Given the description of an element on the screen output the (x, y) to click on. 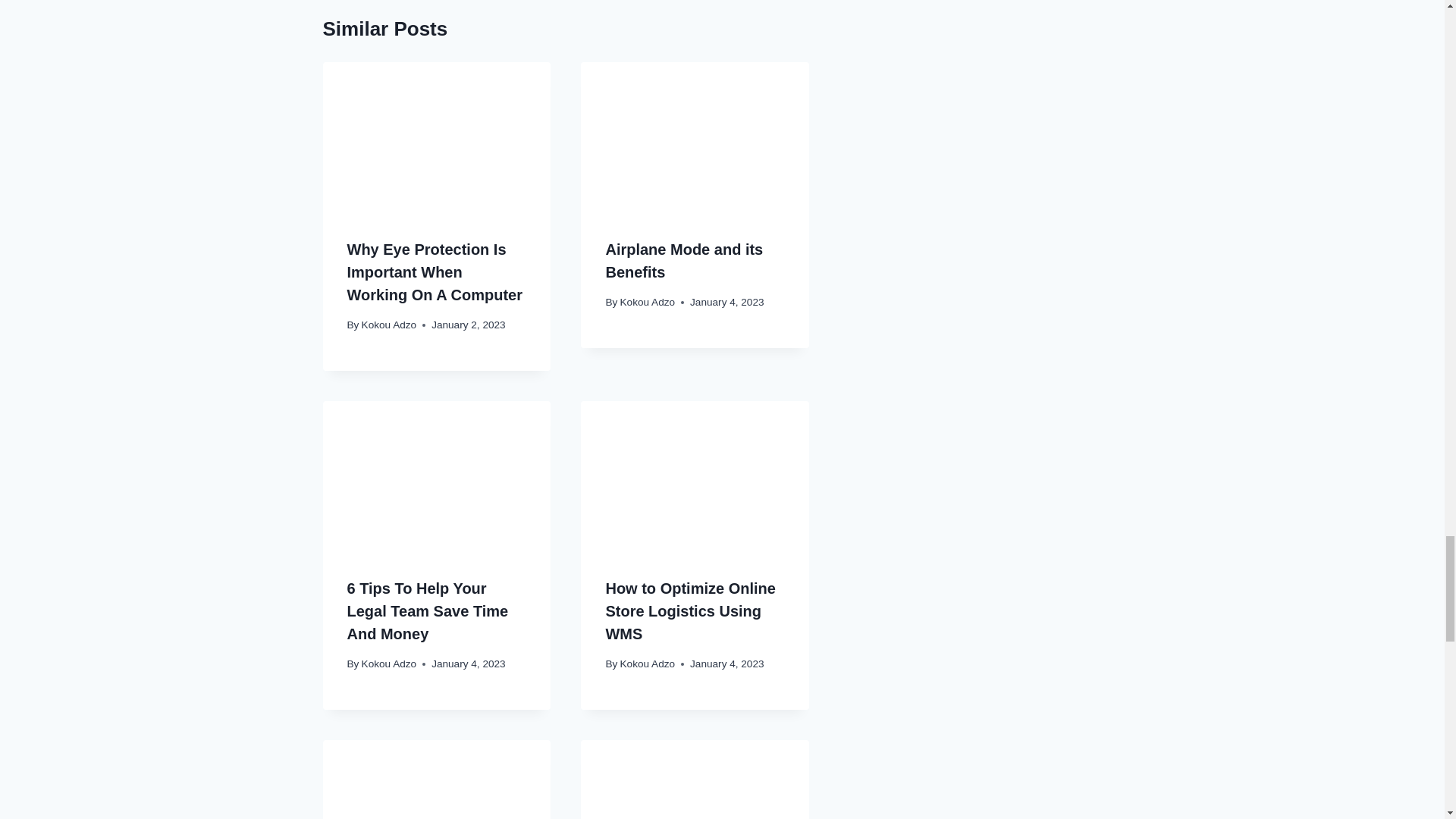
Kokou Adzo (647, 301)
Why Eye Protection Is Important When Working On A Computer (434, 271)
Airplane Mode and its Benefits (683, 260)
Kokou Adzo (388, 324)
